Given the description of an element on the screen output the (x, y) to click on. 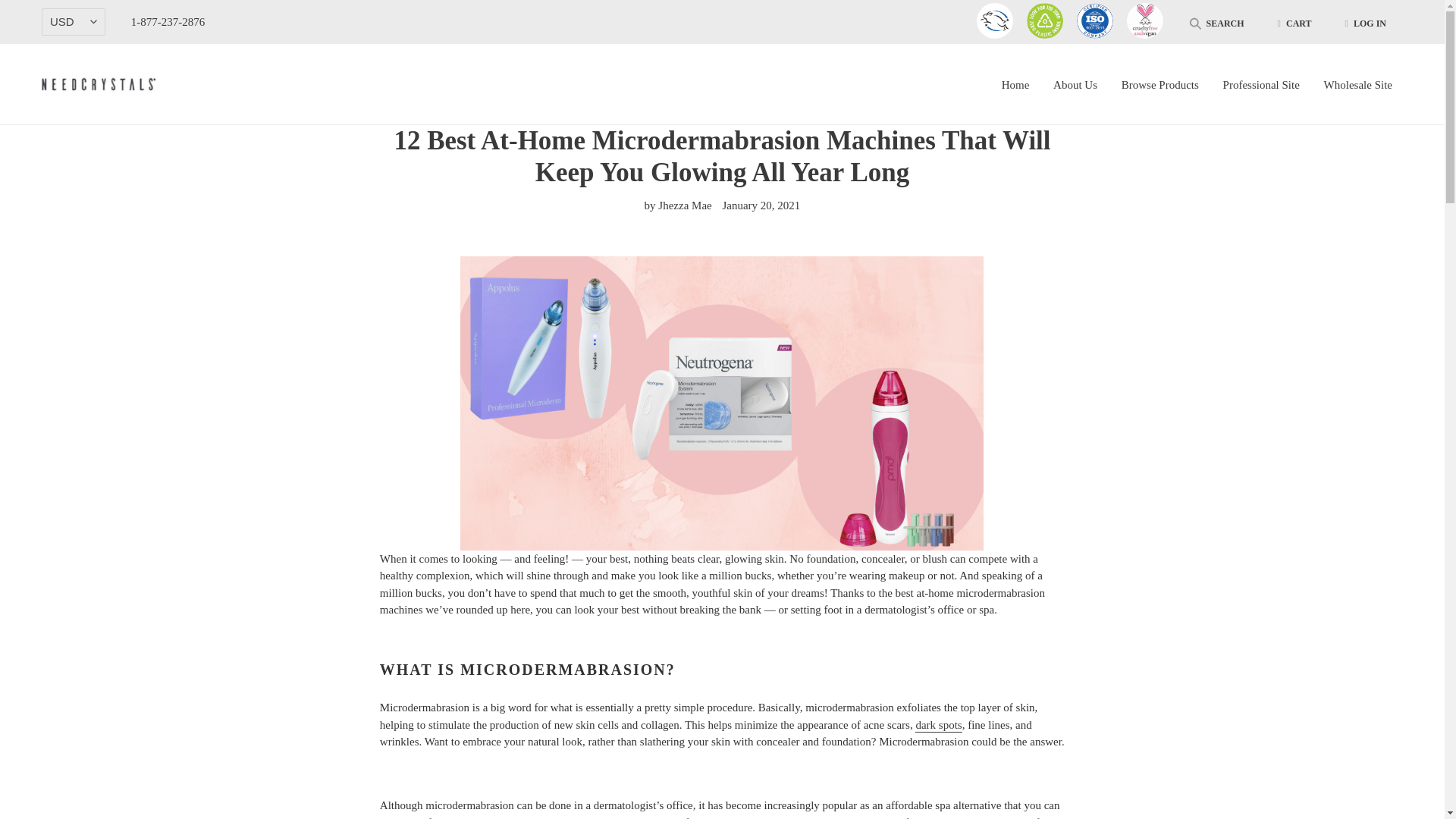
Professional Site (1261, 85)
About Us (1075, 85)
SEARCH (1216, 23)
Wholesale Site (1358, 85)
Browse Products (1159, 85)
dark spots (937, 725)
CART (1293, 23)
1-877-237-2876 (168, 21)
LOG IN (1365, 23)
Home (1016, 85)
